Given the description of an element on the screen output the (x, y) to click on. 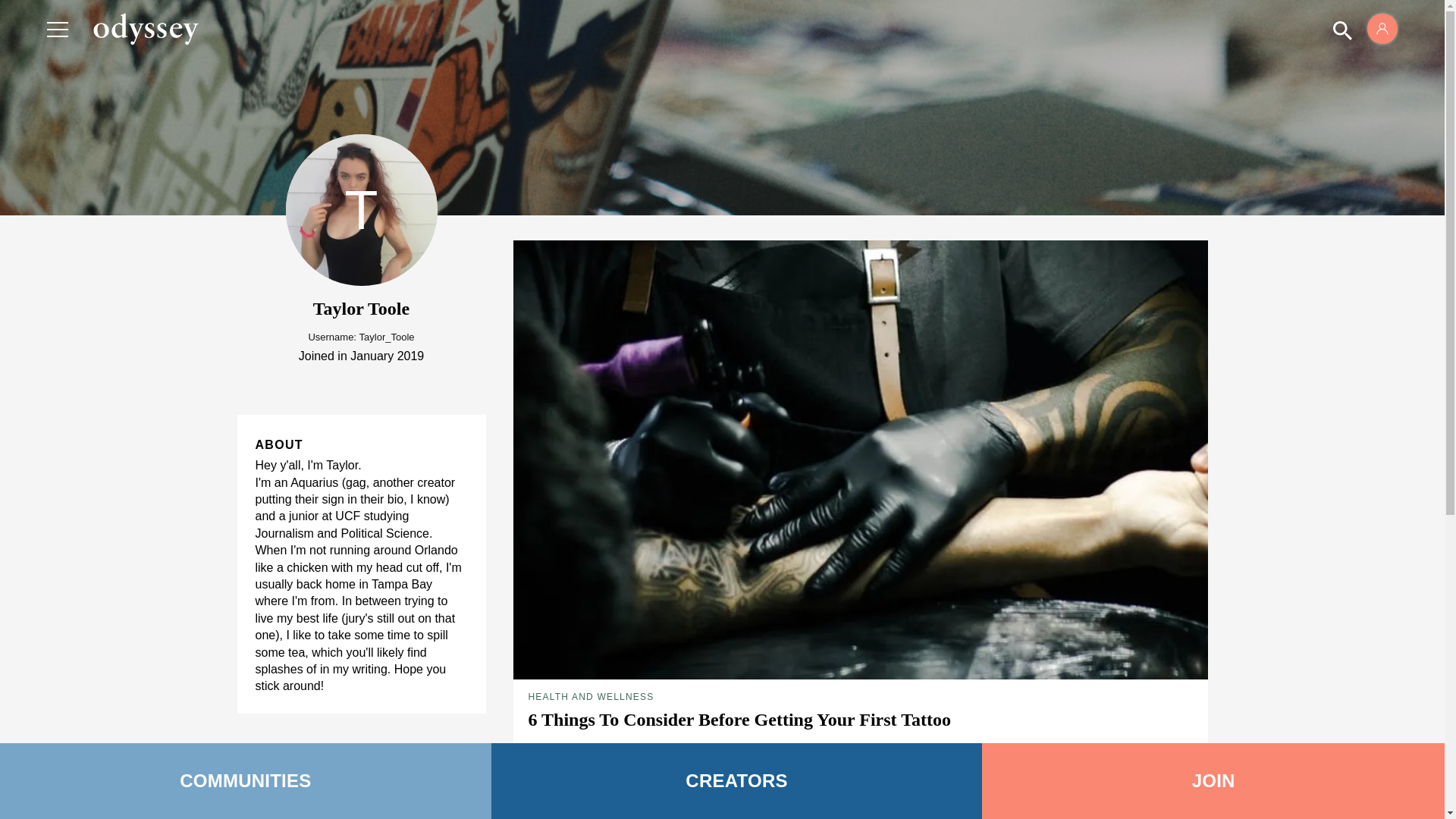
6 Things To Consider Before Getting Your First Tattoo (738, 719)
HEALTH AND WELLNESS (590, 696)
CREATORS (737, 780)
At University of Central Florida (590, 765)
Taylor Toole (569, 748)
Report this User (298, 771)
COMMUNITIES (246, 780)
